Given the description of an element on the screen output the (x, y) to click on. 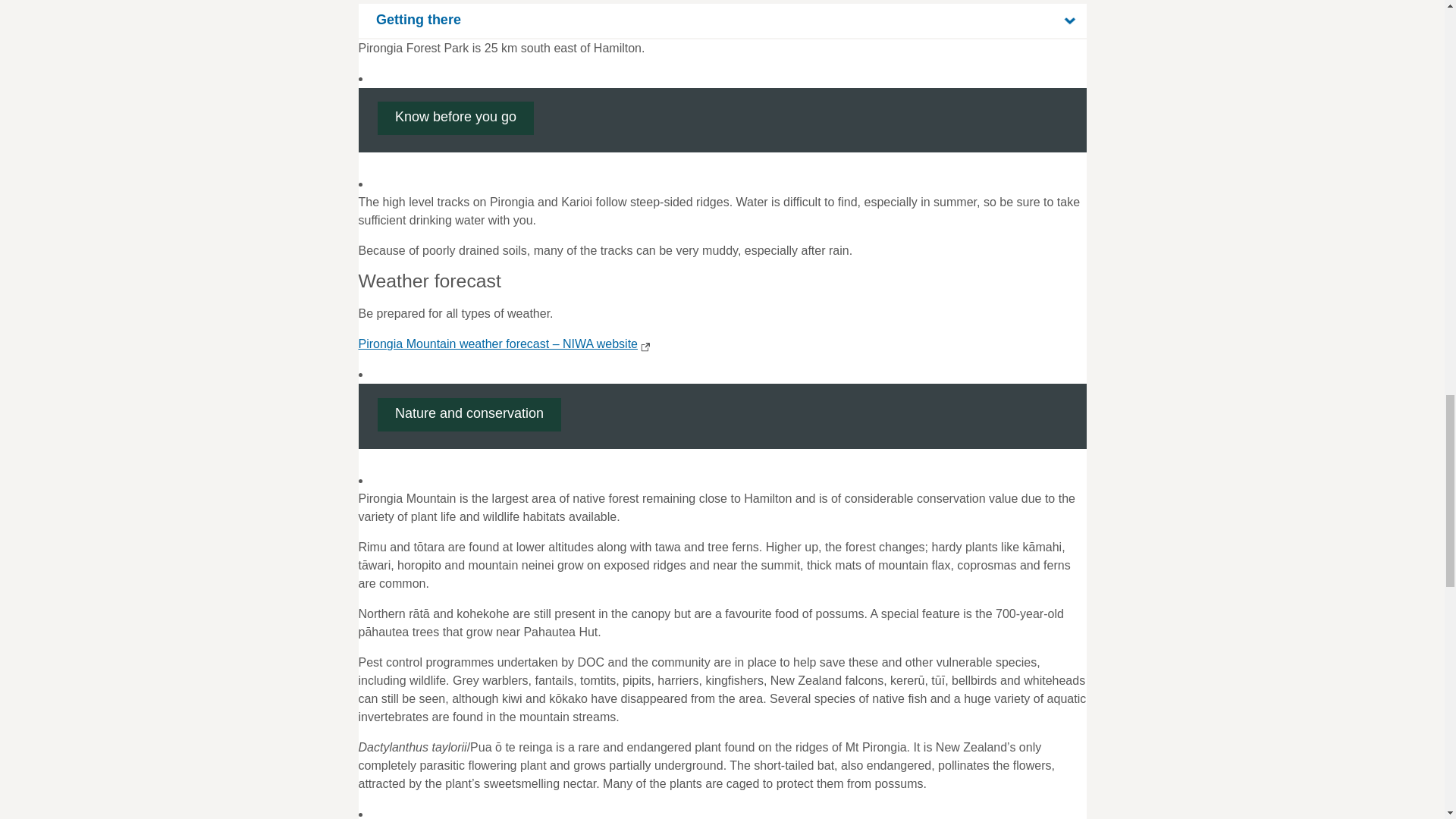
External site link (643, 346)
